Given the description of an element on the screen output the (x, y) to click on. 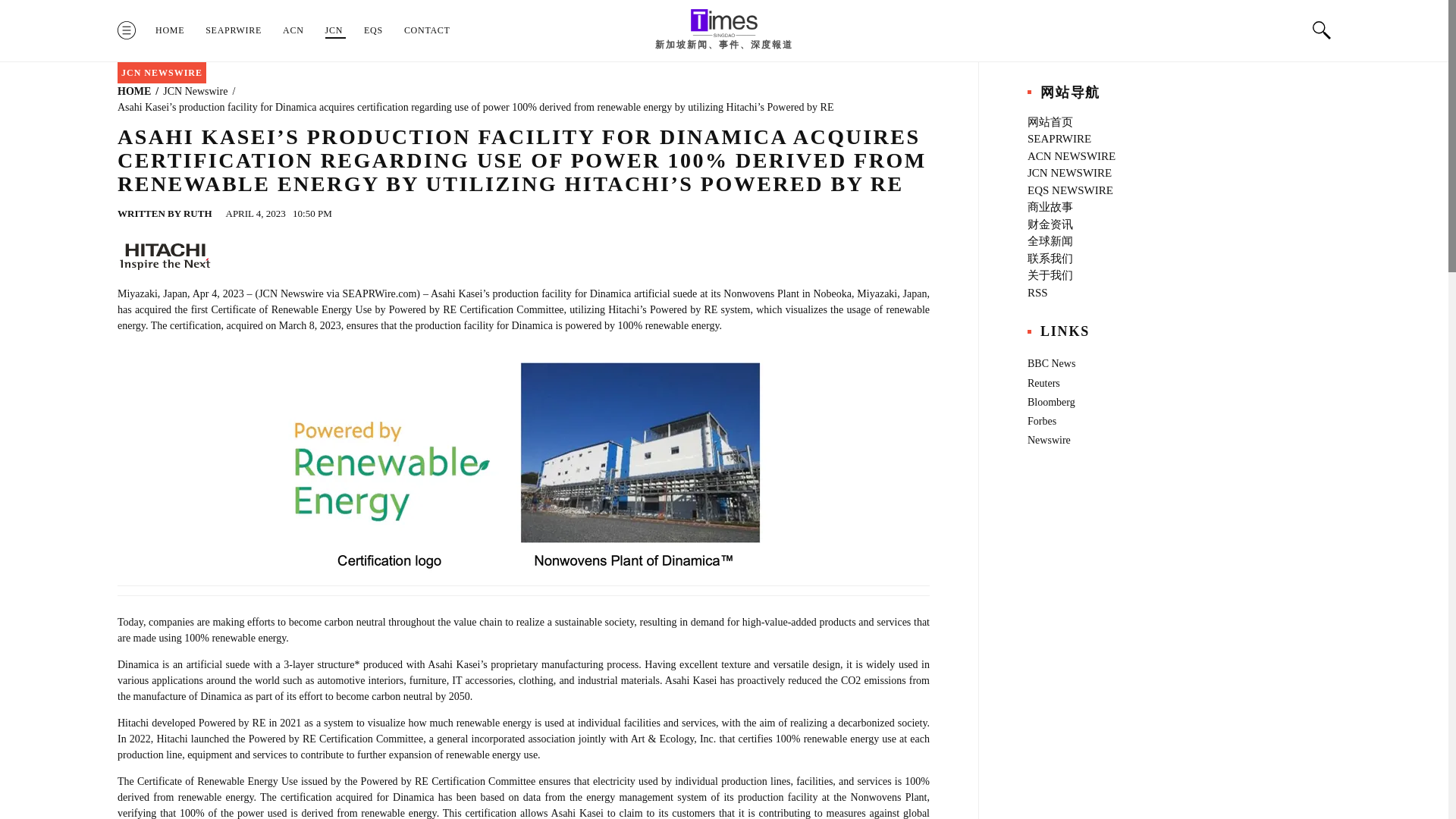
EQS (373, 29)
APRIL 4, 2023 10:50 PM (280, 213)
MENU (126, 30)
CONTACT (427, 29)
HOME (170, 29)
ACN (293, 29)
JCN (334, 29)
JCN Newswire (195, 91)
SEAPRWIRE (233, 29)
HOME (134, 91)
